Given the description of an element on the screen output the (x, y) to click on. 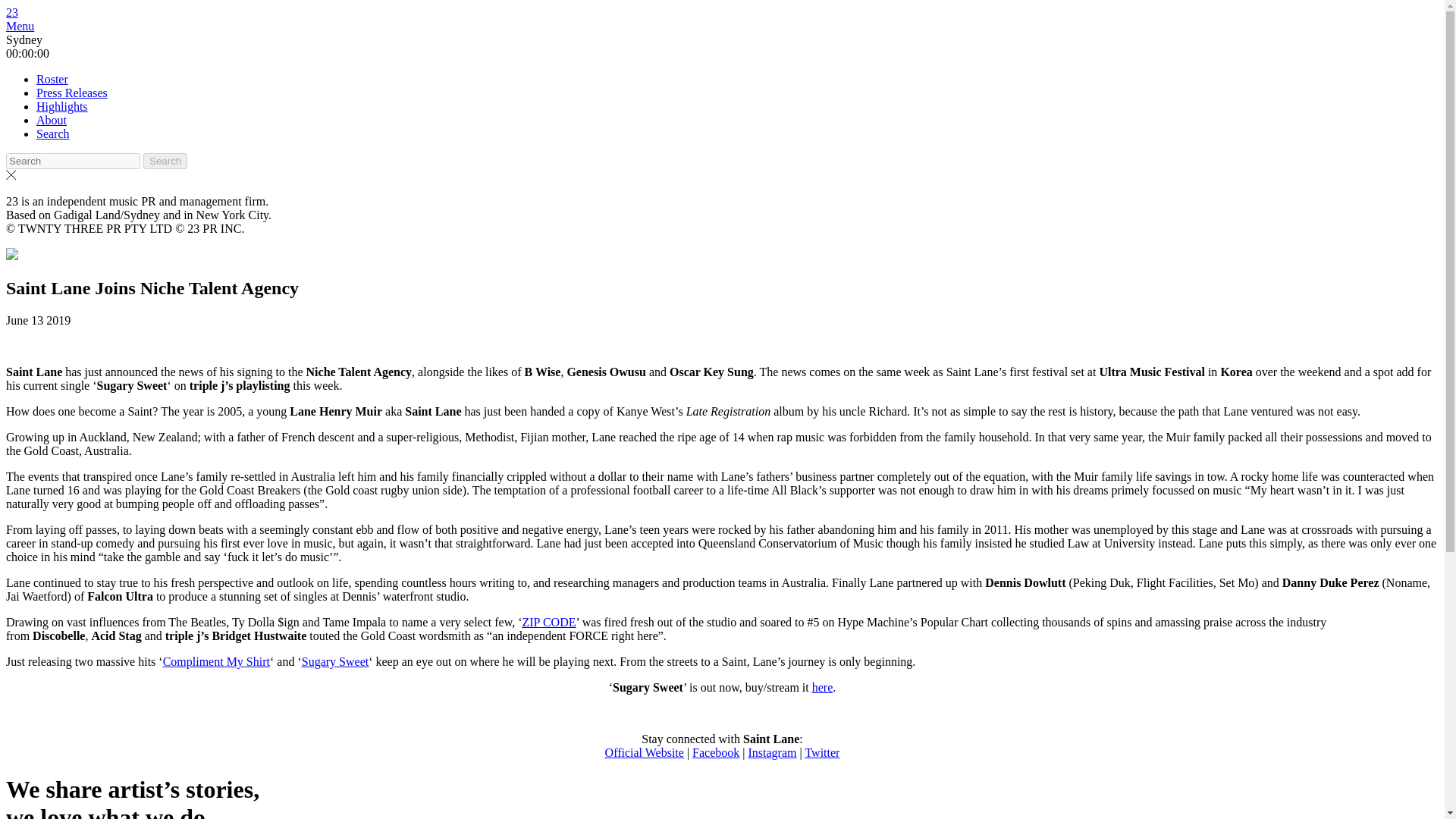
Compliment My Shirt (216, 661)
Instagram (772, 752)
Search (164, 160)
here (822, 686)
Twitter (822, 752)
Menu (19, 25)
About (51, 119)
Highlights (61, 106)
23 (11, 11)
Search (164, 160)
